Given the description of an element on the screen output the (x, y) to click on. 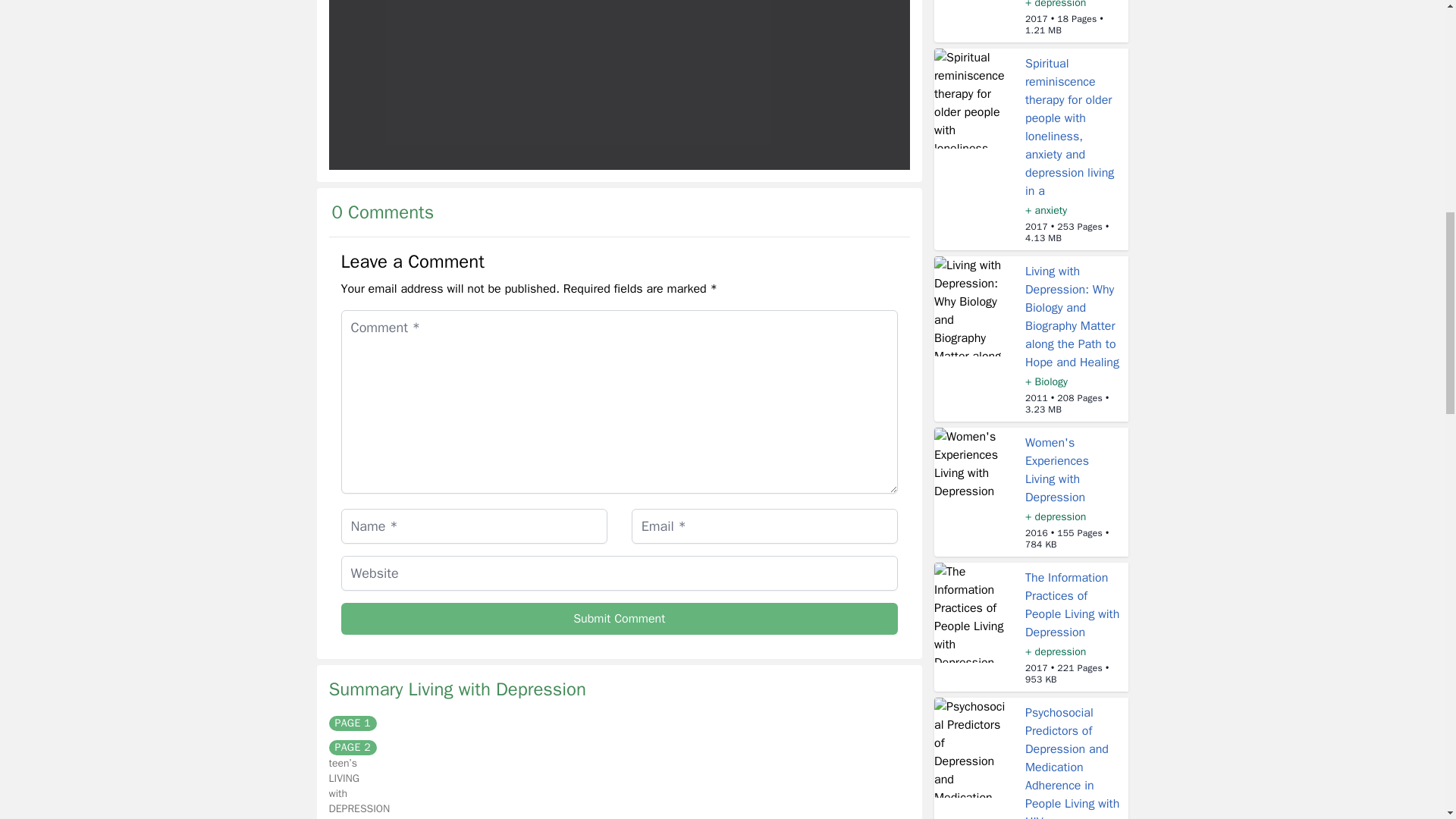
The Information Practices of People Living with Depression (1072, 604)
Women's Experiences Living with Depression (1057, 469)
